Given the description of an element on the screen output the (x, y) to click on. 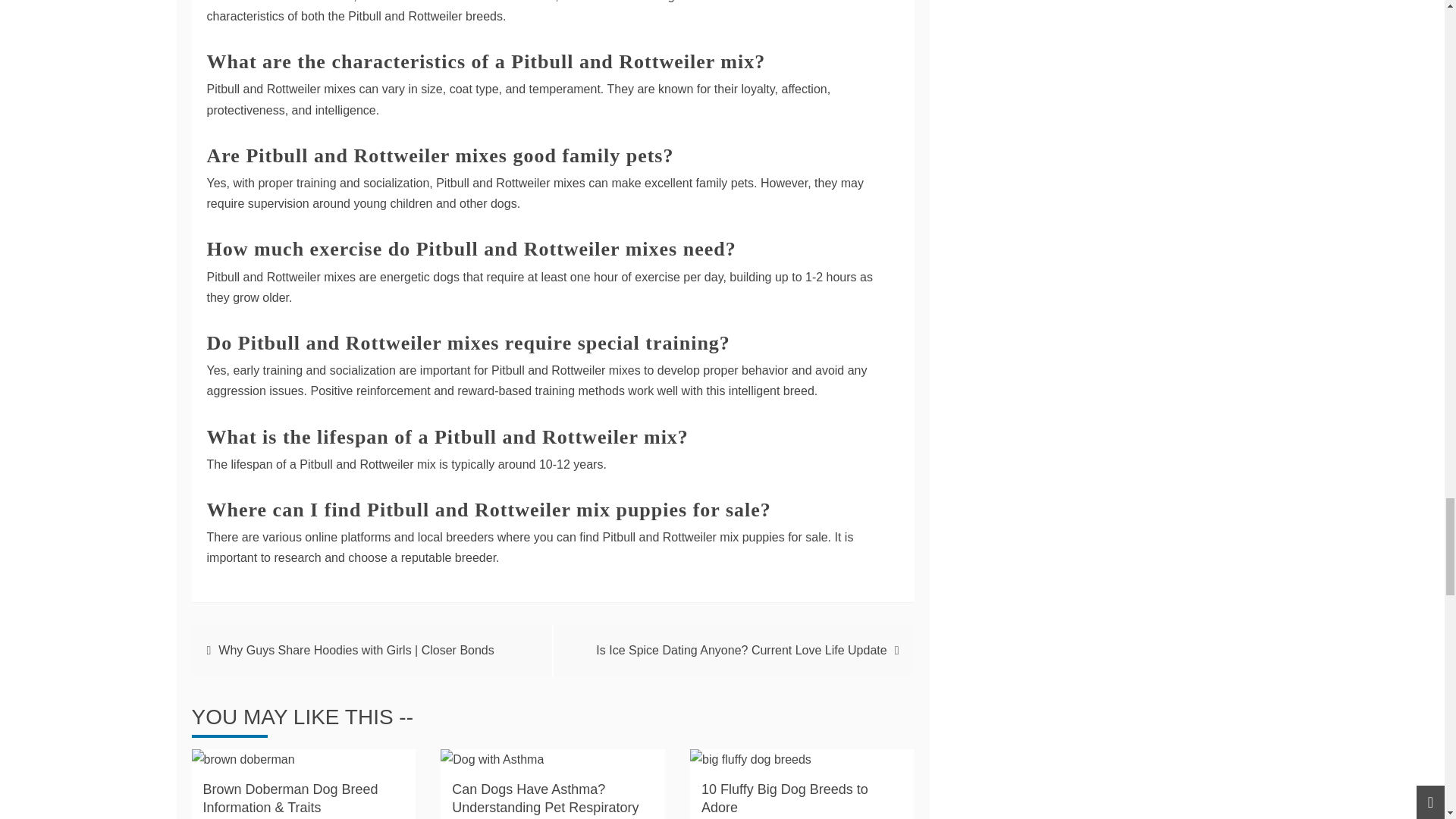
10 Fluffy Big Dog Breeds to Adore (784, 798)
Can Dogs Have Asthma? Understanding Pet Respiratory Health (545, 800)
Is Ice Spice Dating Anyone? Current Love Life Update (740, 649)
